Given the description of an element on the screen output the (x, y) to click on. 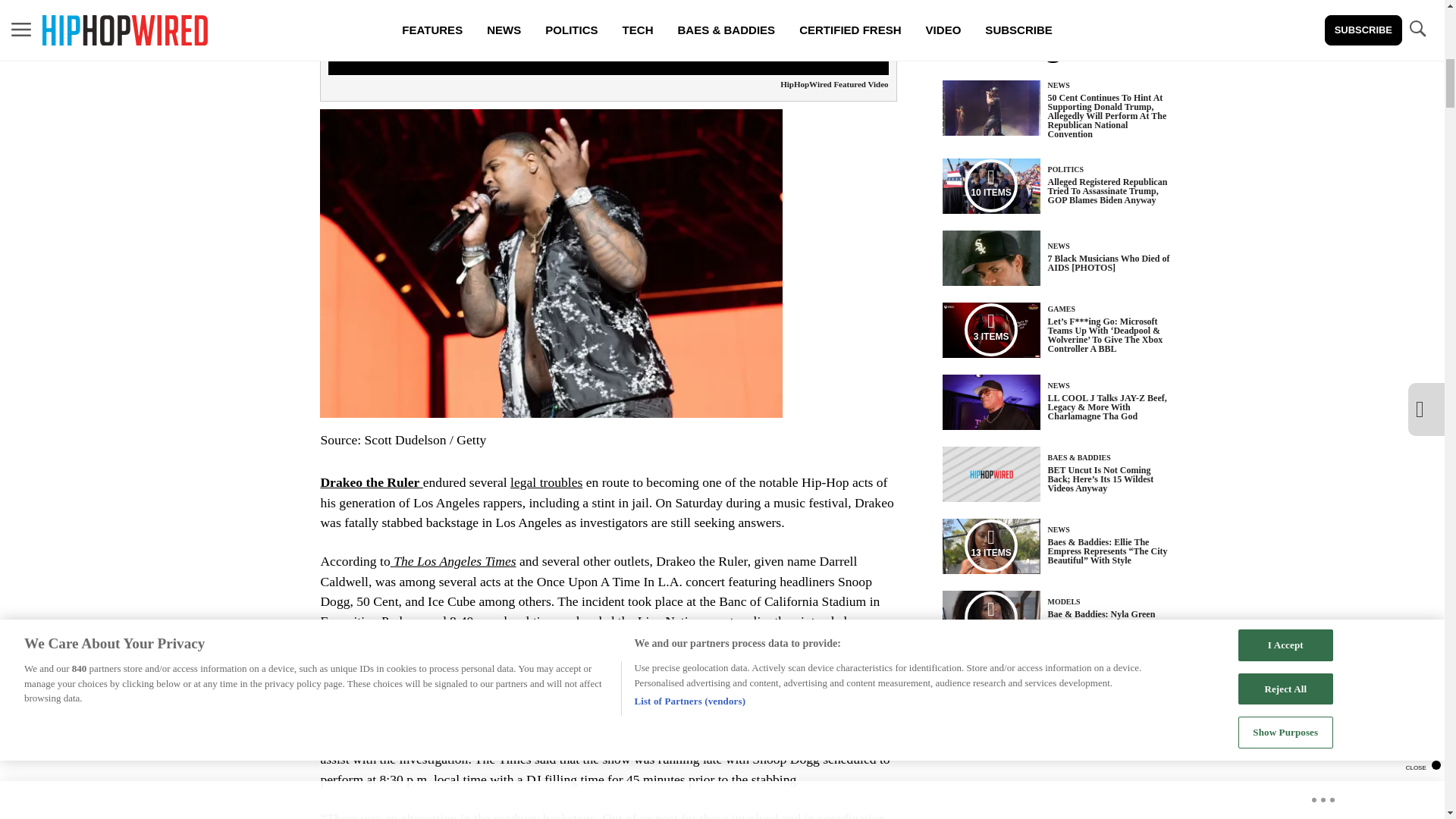
Drakeo the Ruler (371, 482)
Media Playlist (990, 617)
Media Playlist (990, 185)
Media Playlist (990, 329)
legal troubles (546, 482)
Media Playlist (990, 545)
The Los Angeles Times (453, 560)
